Given the description of an element on the screen output the (x, y) to click on. 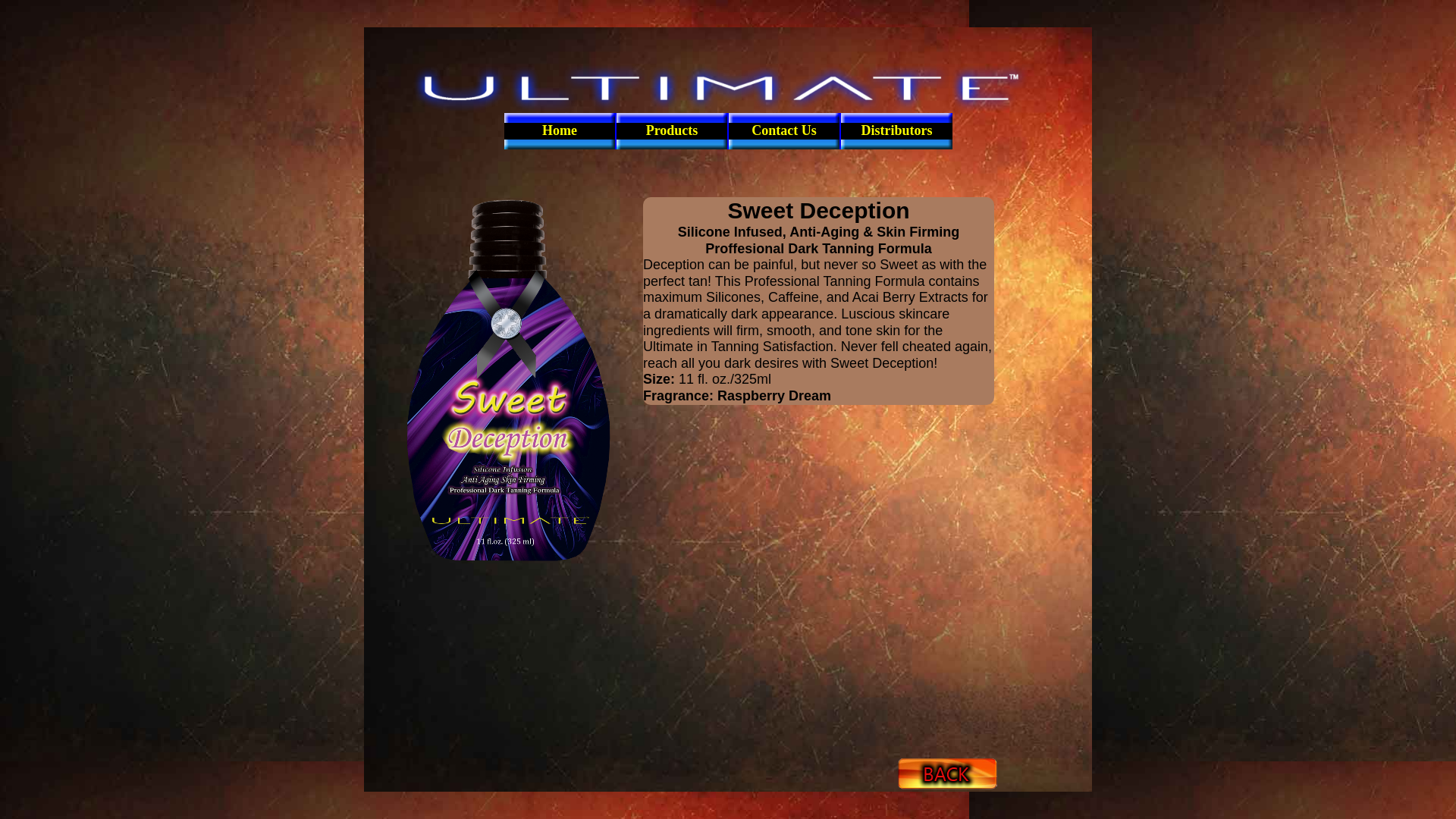
Home (558, 131)
Contact Us (784, 131)
Products (670, 131)
Distributors (896, 131)
